Given the description of an element on the screen output the (x, y) to click on. 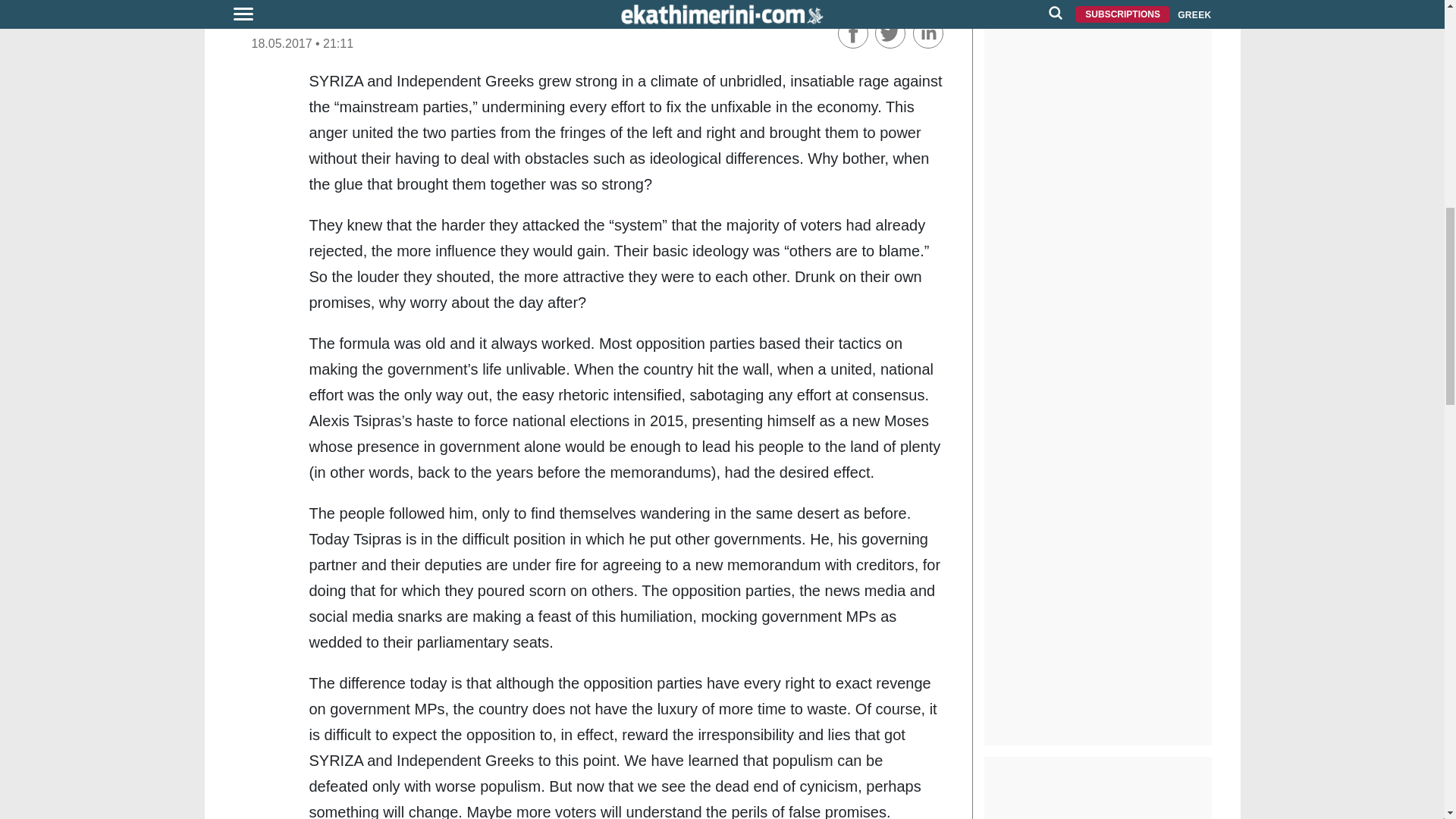
View all posts by Nikos Konstandaras (321, 22)
